Given the description of an element on the screen output the (x, y) to click on. 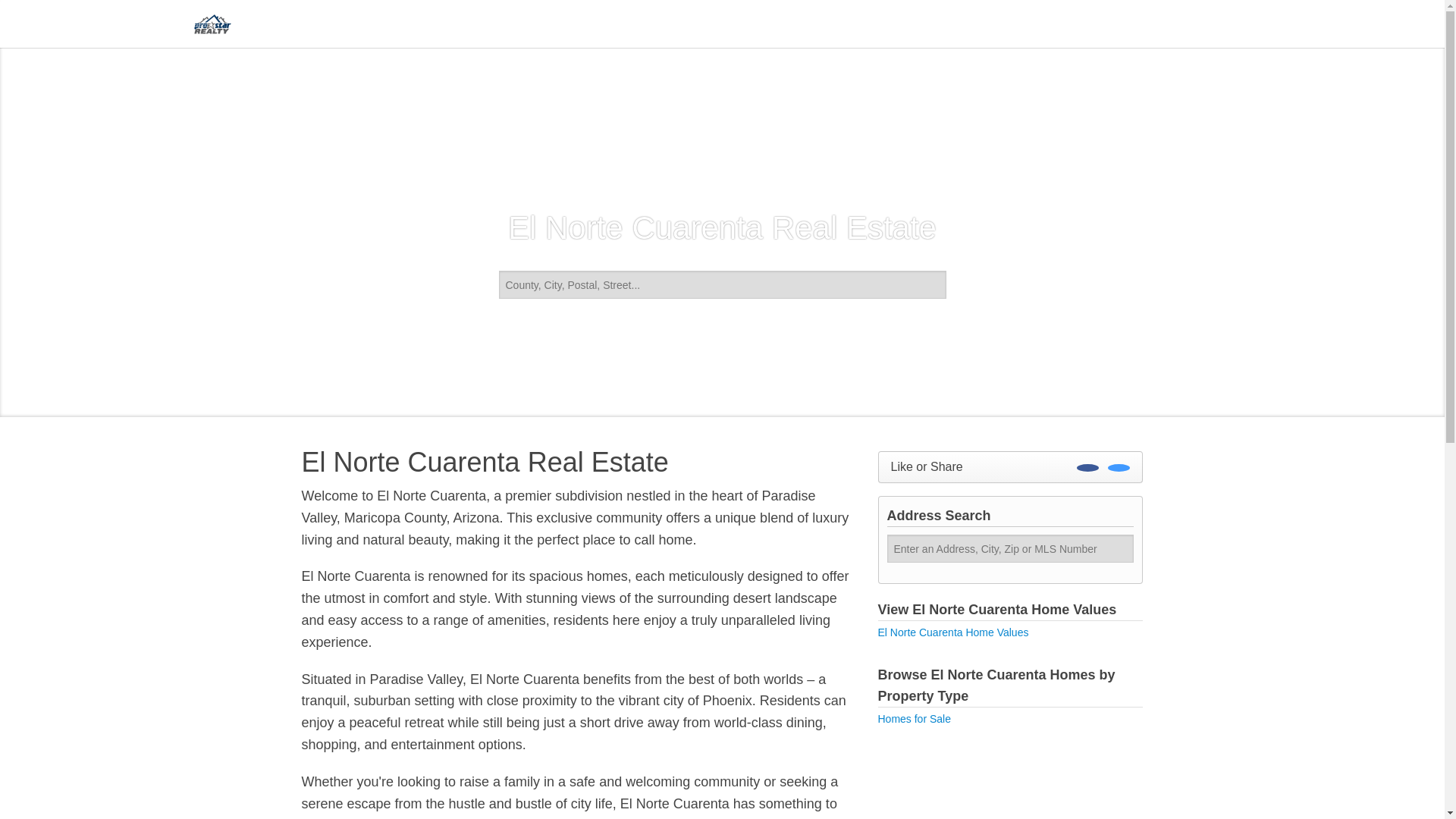
Like or Share (1009, 467)
Homes for Sale (913, 718)
El Norte Cuarenta Home Values (953, 632)
El Norte Cuarenta Real Estate (578, 462)
